Given the description of an element on the screen output the (x, y) to click on. 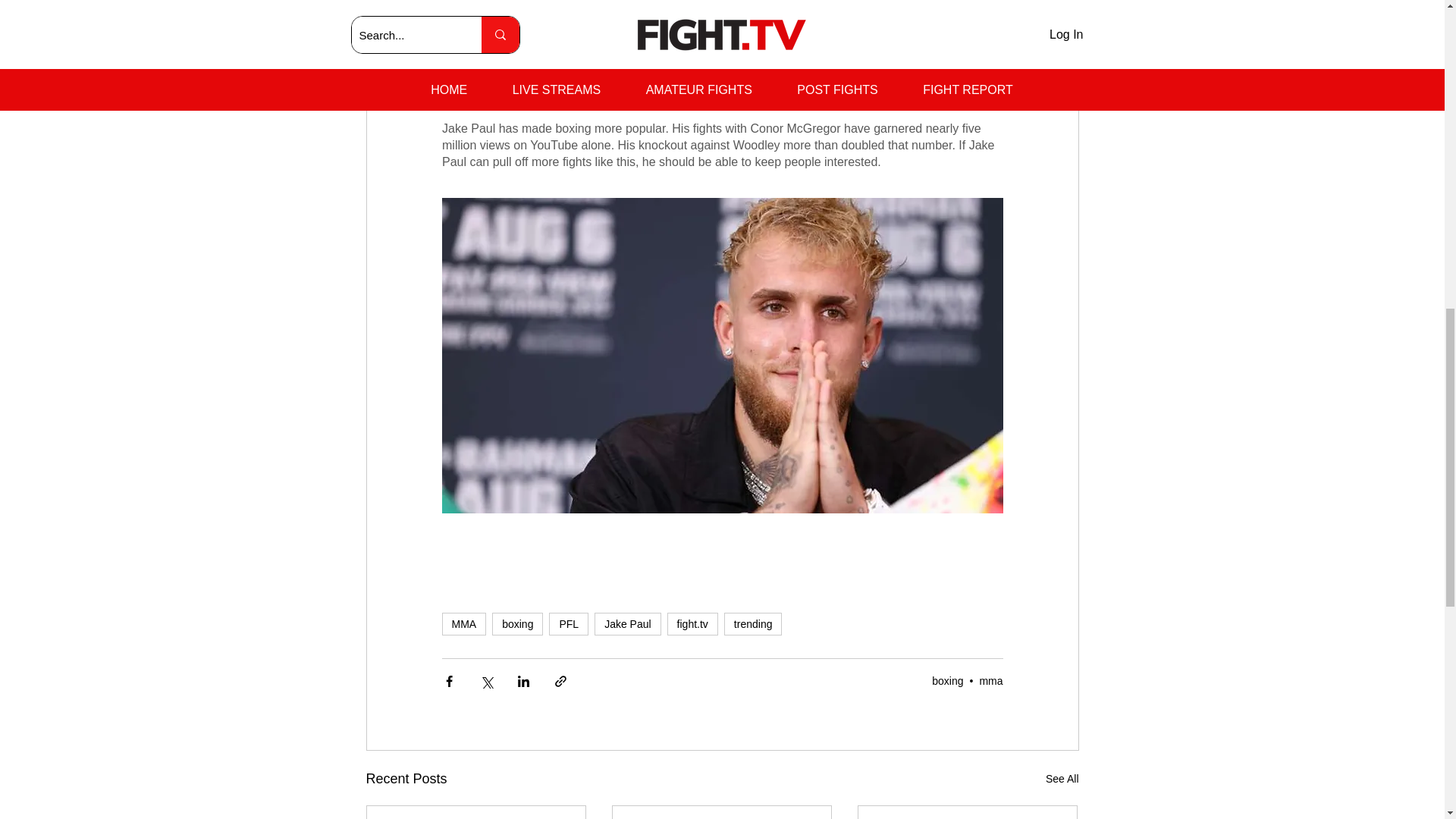
Jake Paul (627, 623)
boxing (946, 680)
mma (990, 680)
boxing (517, 623)
trending (753, 623)
See All (1061, 779)
fight.tv (691, 623)
MMA (463, 623)
PFL (568, 623)
